Given the description of an element on the screen output the (x, y) to click on. 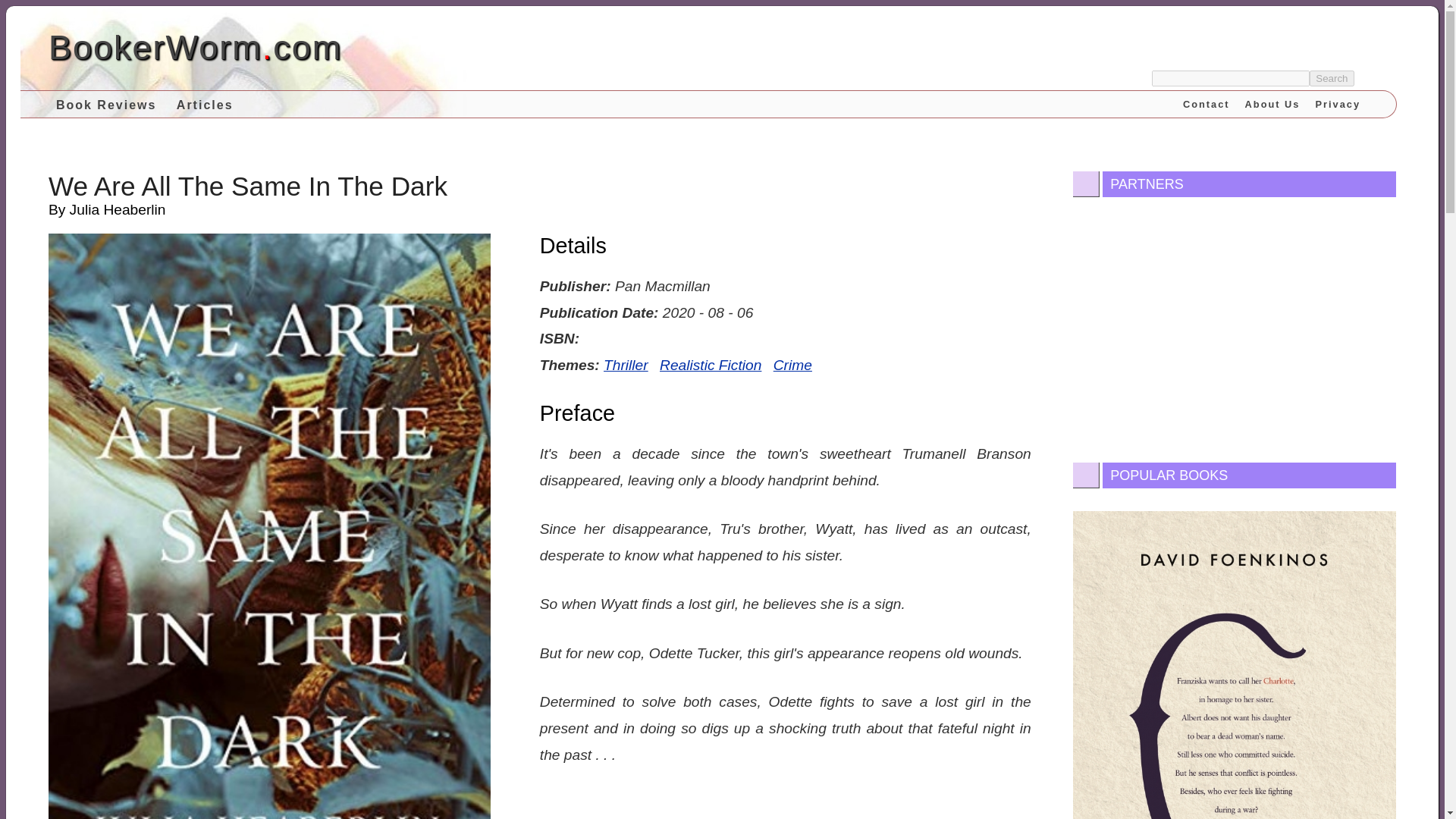
Realistic Fiction (710, 365)
Articles (204, 103)
Crime (792, 365)
Thriller (625, 365)
Privacy (1337, 102)
Advertisement (1234, 326)
About Us (1272, 102)
Contact (1205, 102)
BookerWorm.com (195, 46)
Search (1331, 78)
